Given the description of an element on the screen output the (x, y) to click on. 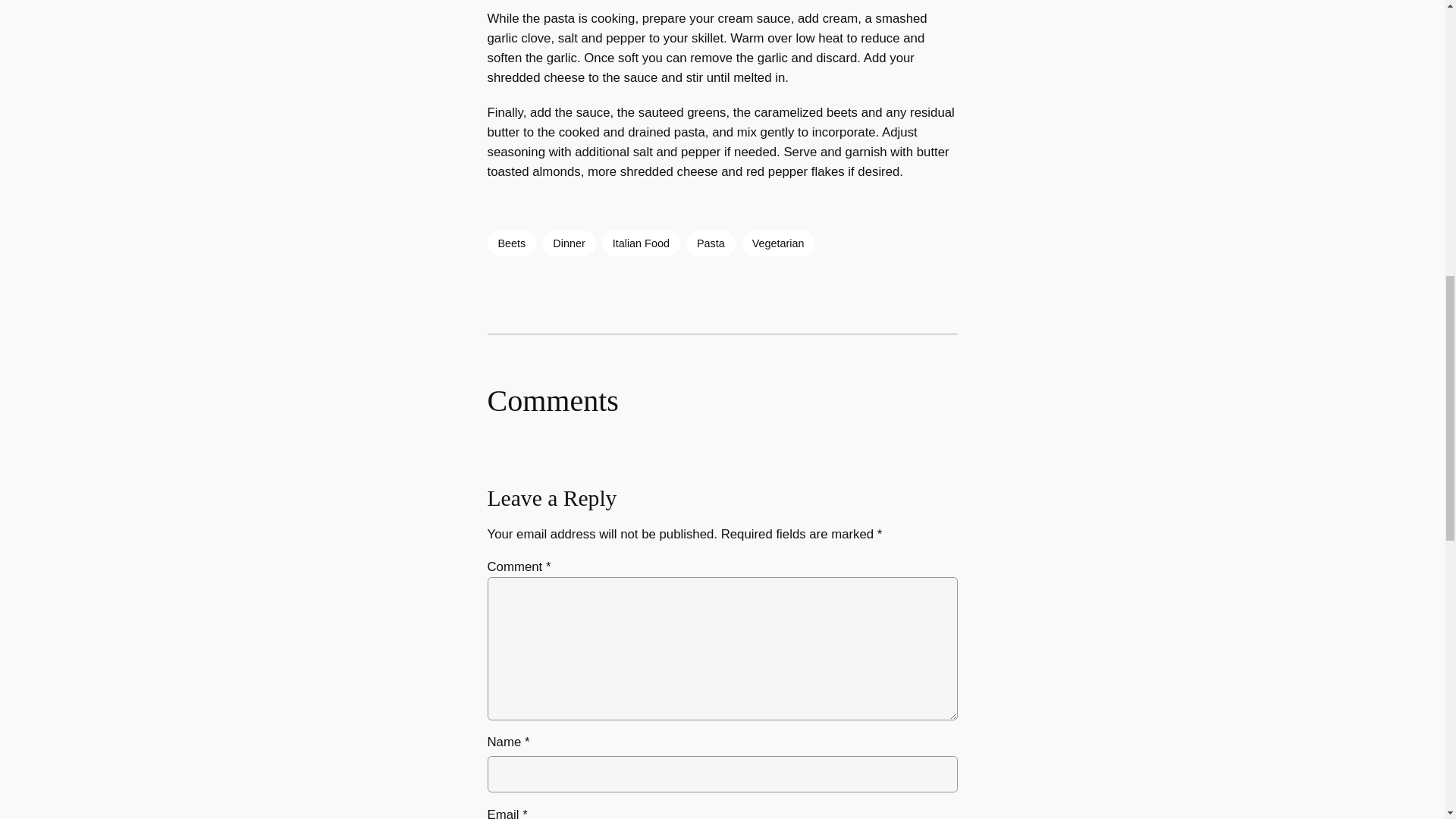
Vegetarian (778, 243)
Pasta (710, 243)
Italian Food (640, 243)
Dinner (568, 243)
Beets (510, 243)
